Given the description of an element on the screen output the (x, y) to click on. 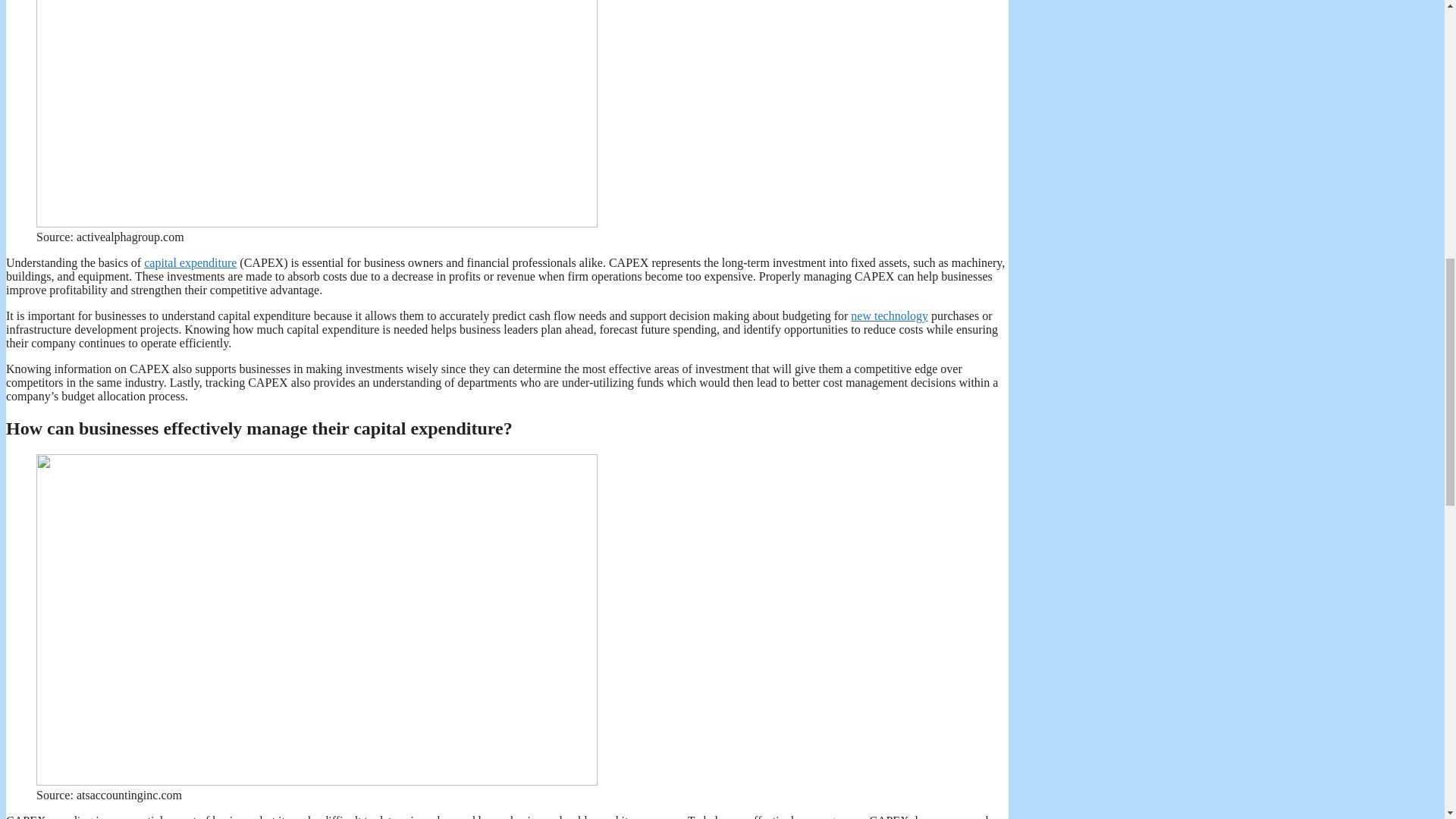
new technology (889, 315)
capital expenditure (189, 262)
